Given the description of an element on the screen output the (x, y) to click on. 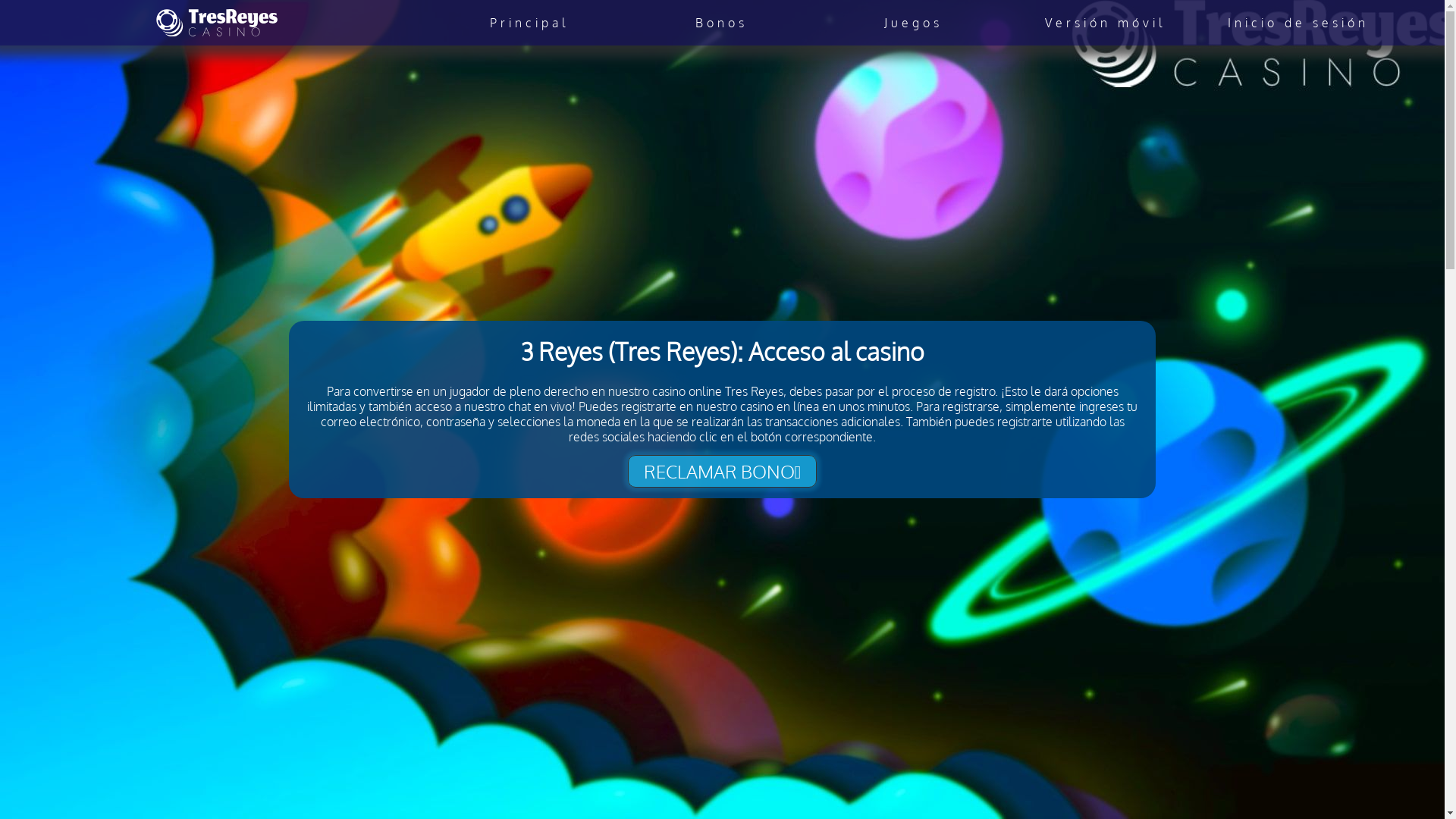
Principal Element type: text (528, 22)
Bonos Element type: text (721, 22)
Juegos Element type: text (913, 22)
